Given the description of an element on the screen output the (x, y) to click on. 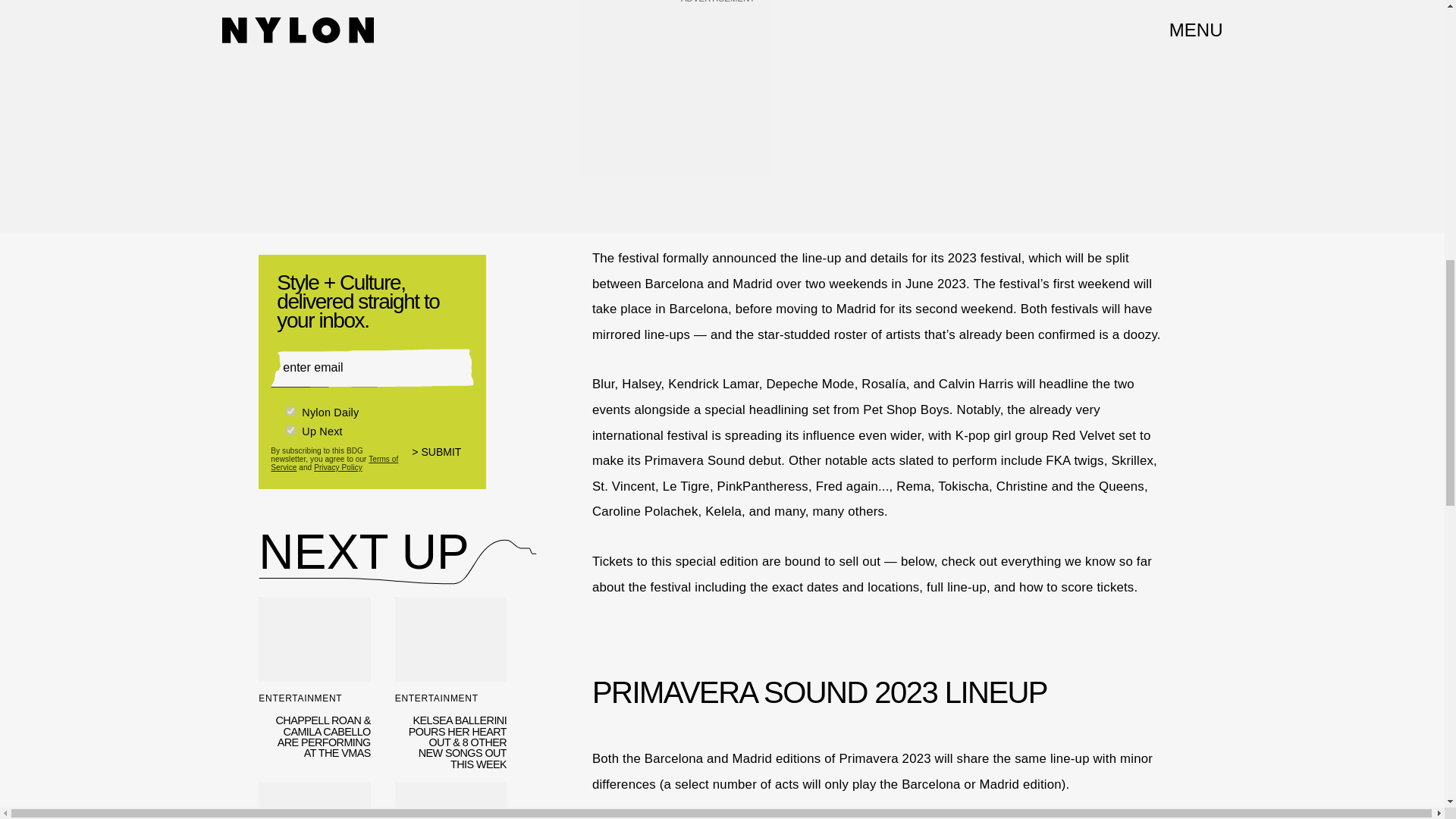
MILEY CYRUS JUST MADE HISTORY AS A DISNEY LEGENDS HONOREE (314, 800)
Privacy Policy (338, 465)
SUBMIT (443, 458)
Terms of Service (333, 460)
